Given the description of an element on the screen output the (x, y) to click on. 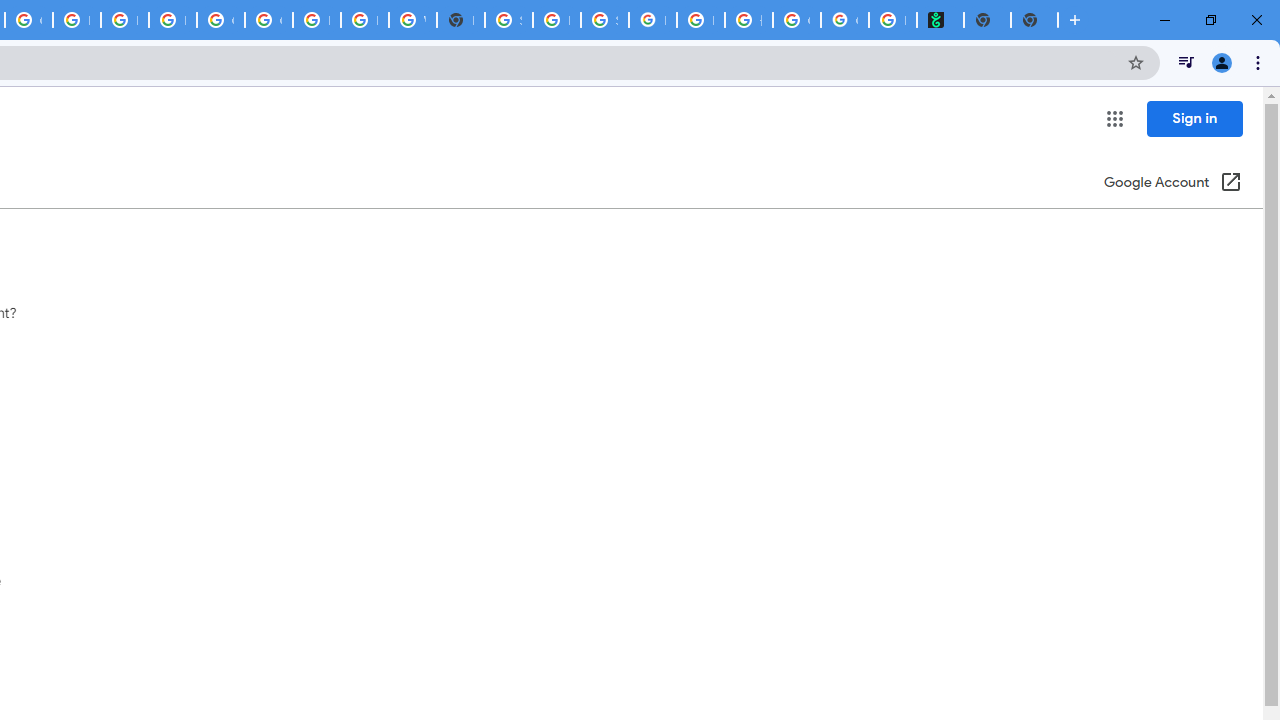
Google Cloud Platform (220, 20)
Google Account (Open in a new window) (1172, 183)
